Given the description of an element on the screen output the (x, y) to click on. 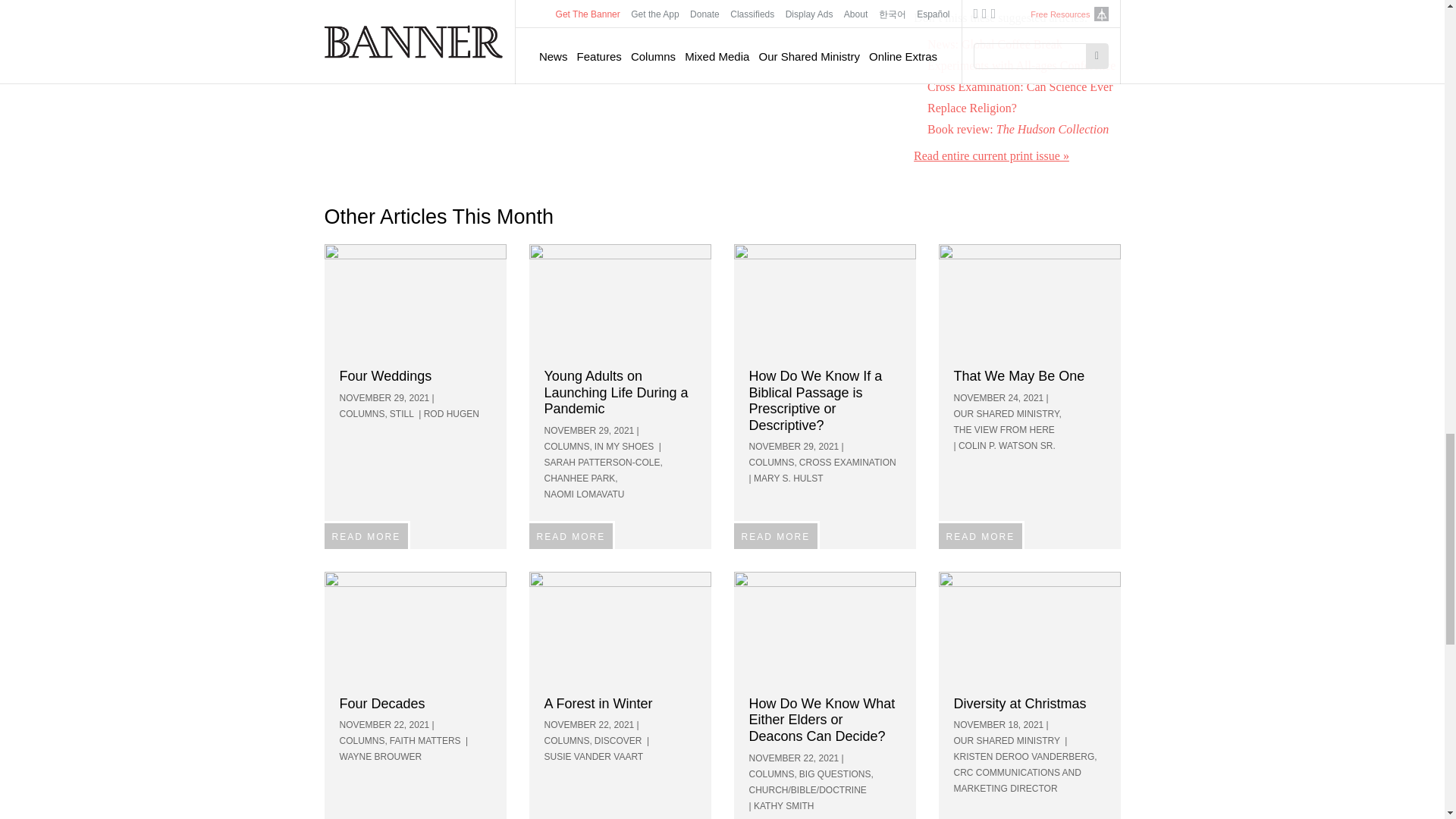
Cross Examination: Can Science Ever Replace Religion? (1019, 97)
Book review: The Hudson Collection (1017, 128)
